Given the description of an element on the screen output the (x, y) to click on. 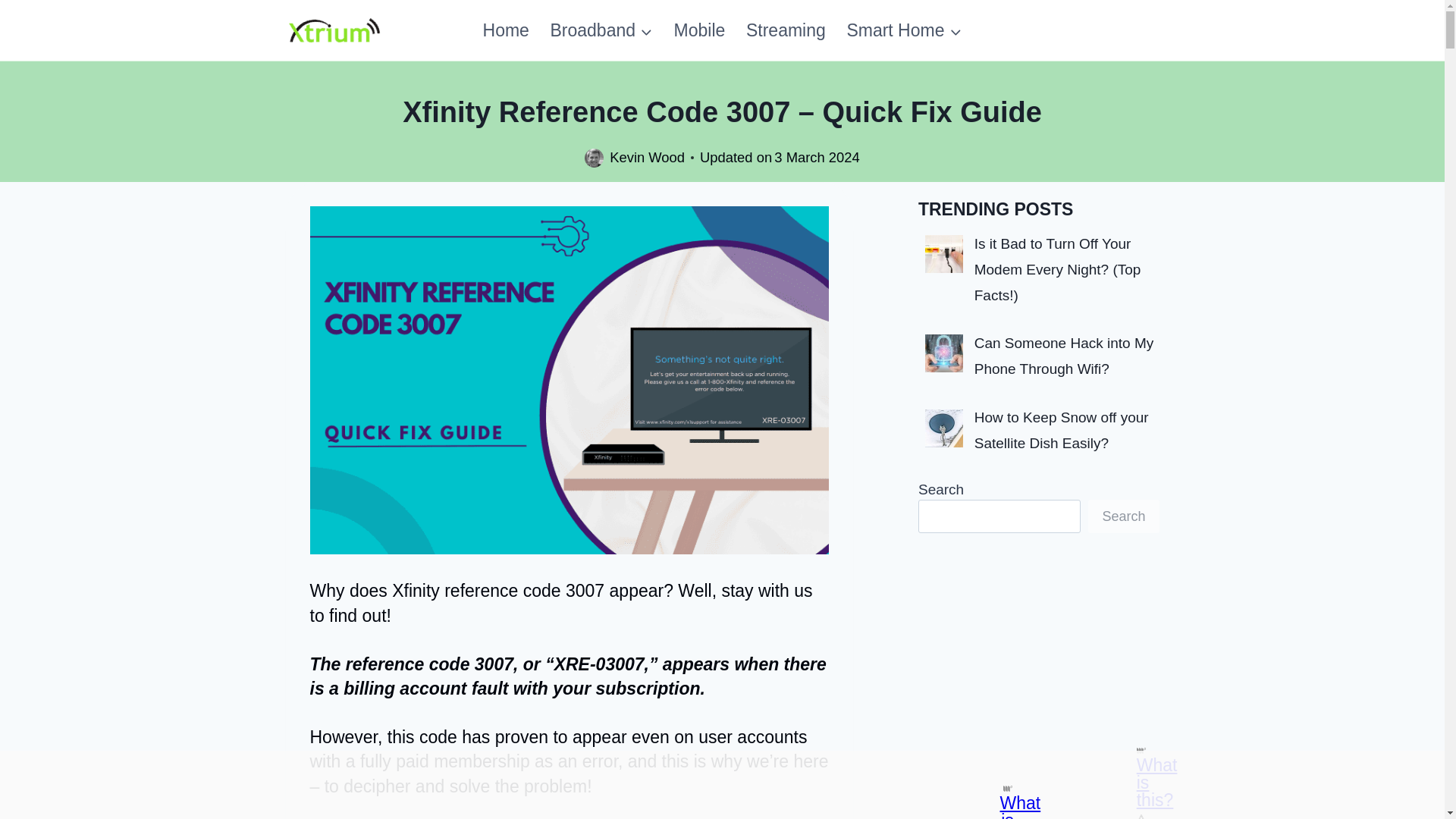
Kevin Wood (647, 157)
Can Someone Hack into My Phone Through Wifi? (1064, 355)
How to Keep Snow off your Satellite Dish Easily? (1061, 430)
Mobile (699, 30)
Search (1122, 516)
Streaming (785, 30)
Smart Home (903, 30)
Home (505, 30)
Broadband (601, 30)
